Given the description of an element on the screen output the (x, y) to click on. 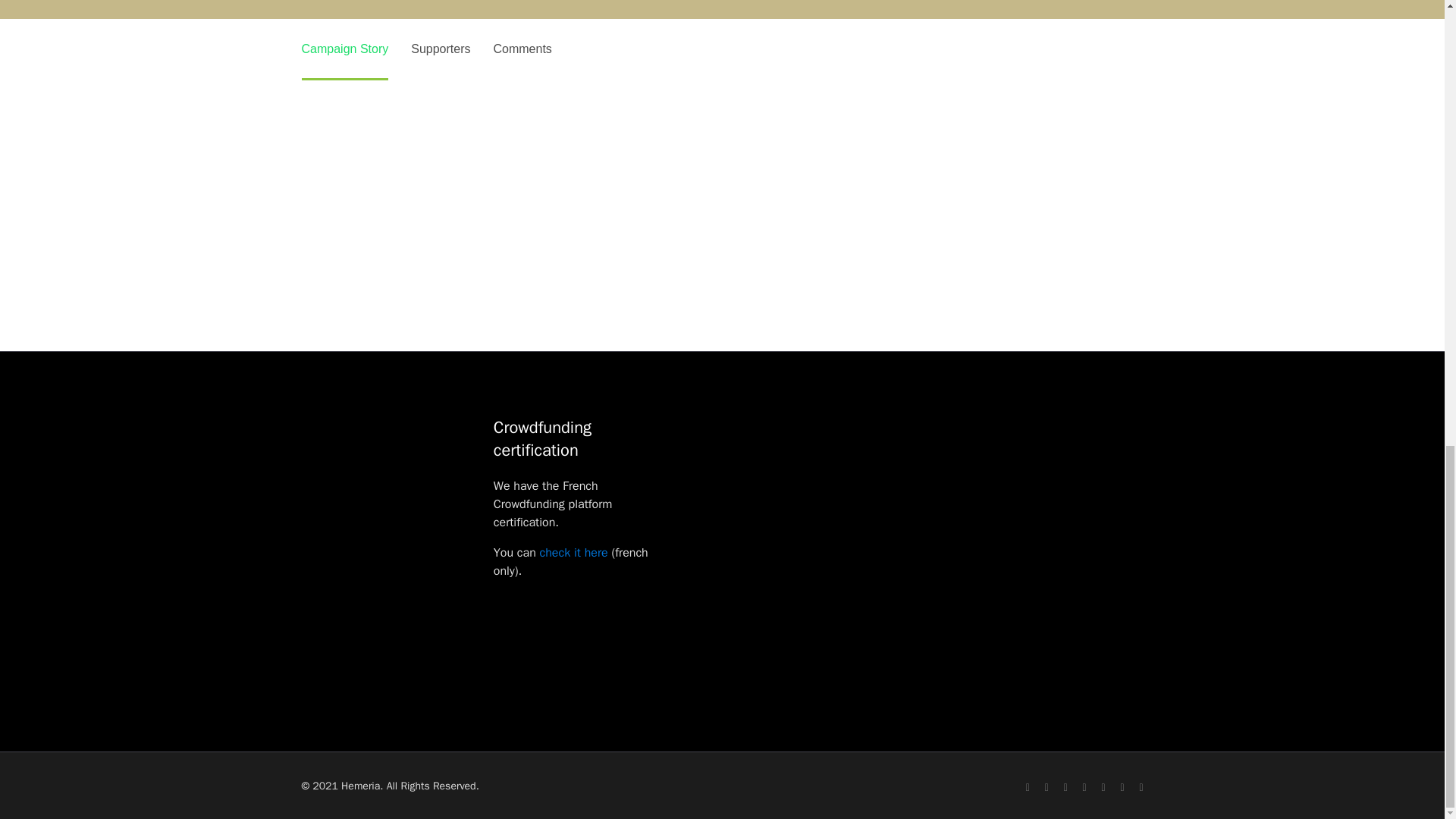
Comments (522, 48)
Supporters (440, 48)
Campaign Story (344, 48)
